Given the description of an element on the screen output the (x, y) to click on. 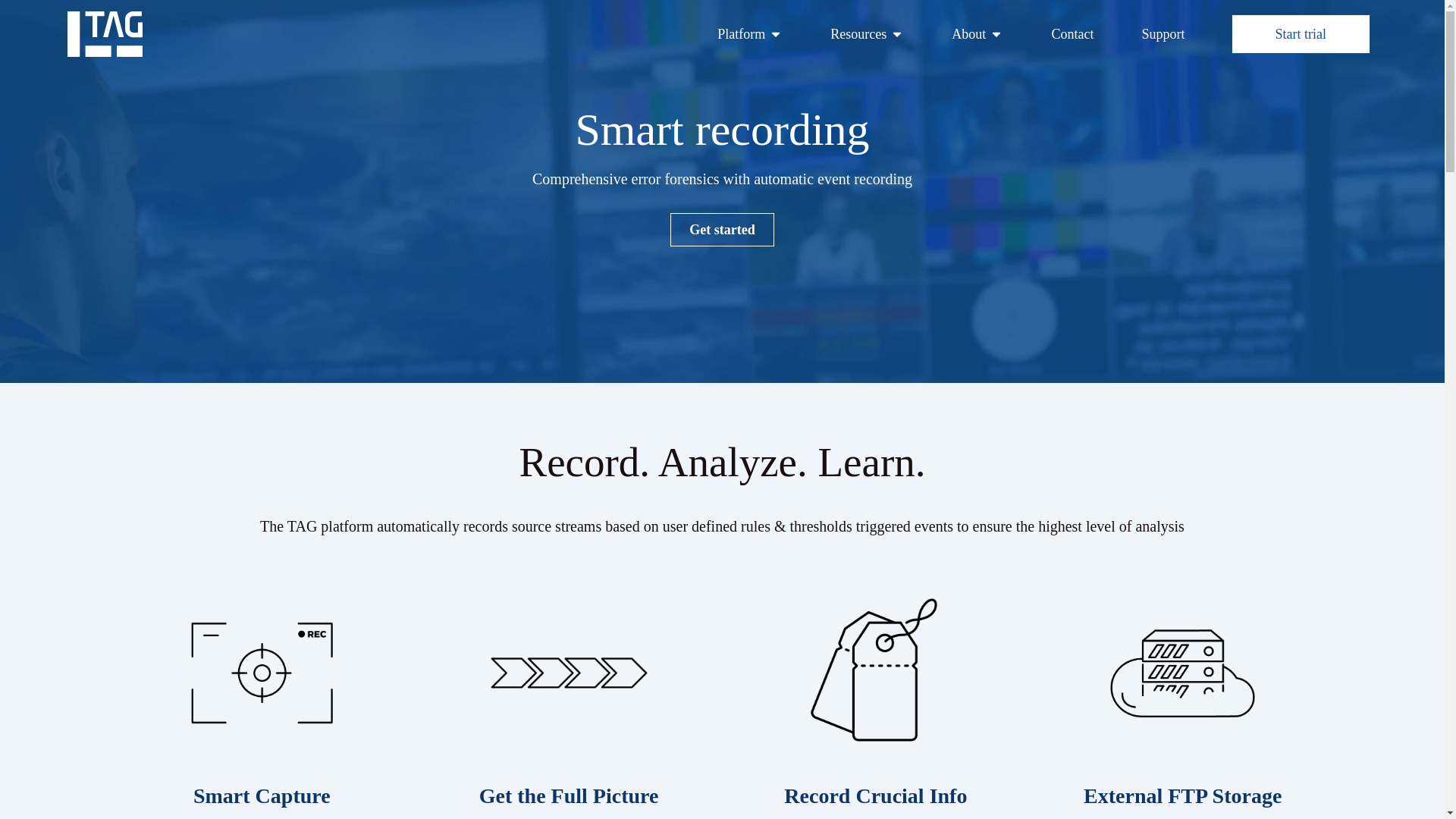
Start trial (1300, 34)
Contact (1072, 34)
Support (1163, 34)
